Given the description of an element on the screen output the (x, y) to click on. 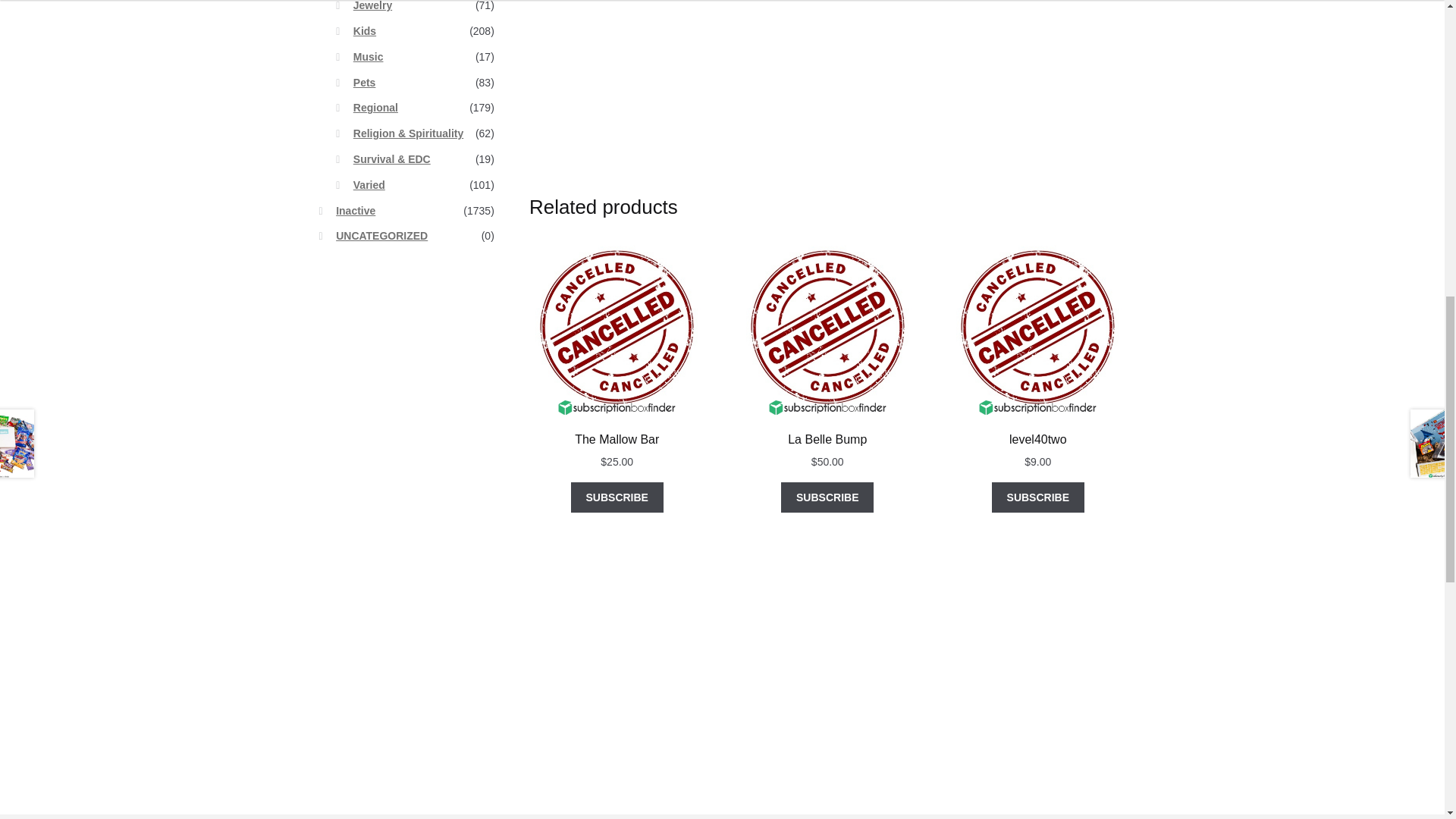
SUBSCRIBE (616, 497)
Advertisement (932, 117)
SUBSCRIBE (826, 497)
SUBSCRIBE (1037, 497)
